Given the description of an element on the screen output the (x, y) to click on. 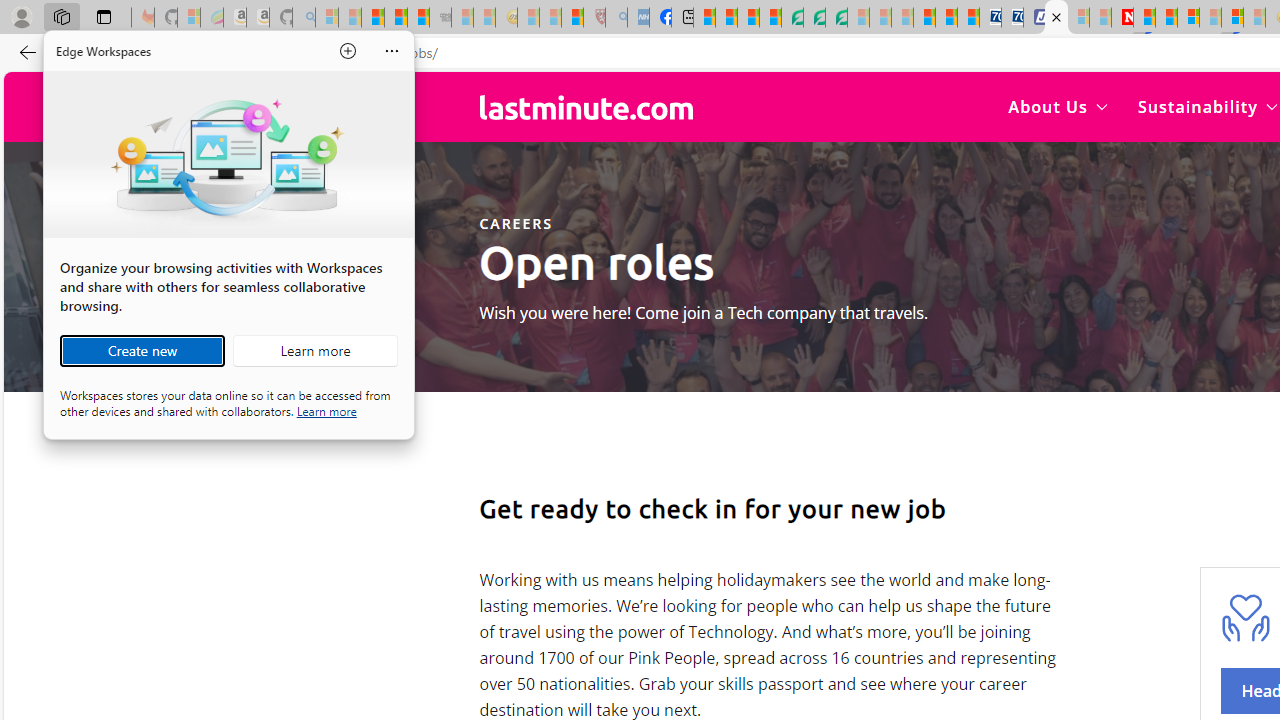
Local - MSN (571, 17)
Latest Politics News & Archive | Newsweek.com (1122, 17)
Learn more about Workspaces (315, 350)
CAREERS (515, 223)
